Given the description of an element on the screen output the (x, y) to click on. 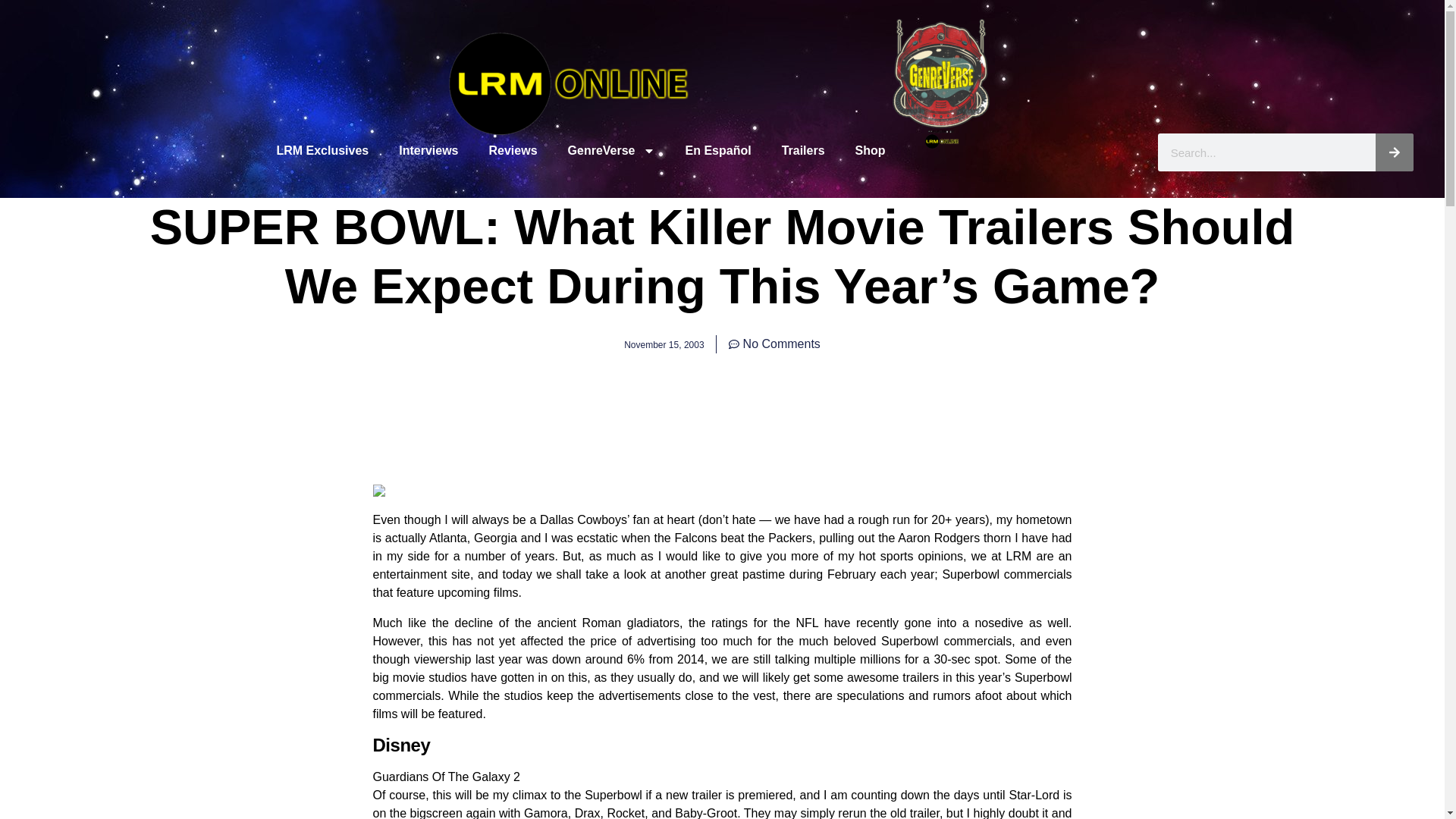
Shop (870, 150)
GenreVerse (611, 150)
Interviews (428, 150)
November 15, 2003 (663, 343)
No Comments (775, 343)
Trailers (803, 150)
Reviews (513, 150)
LRM Exclusives (322, 150)
